Given the description of an element on the screen output the (x, y) to click on. 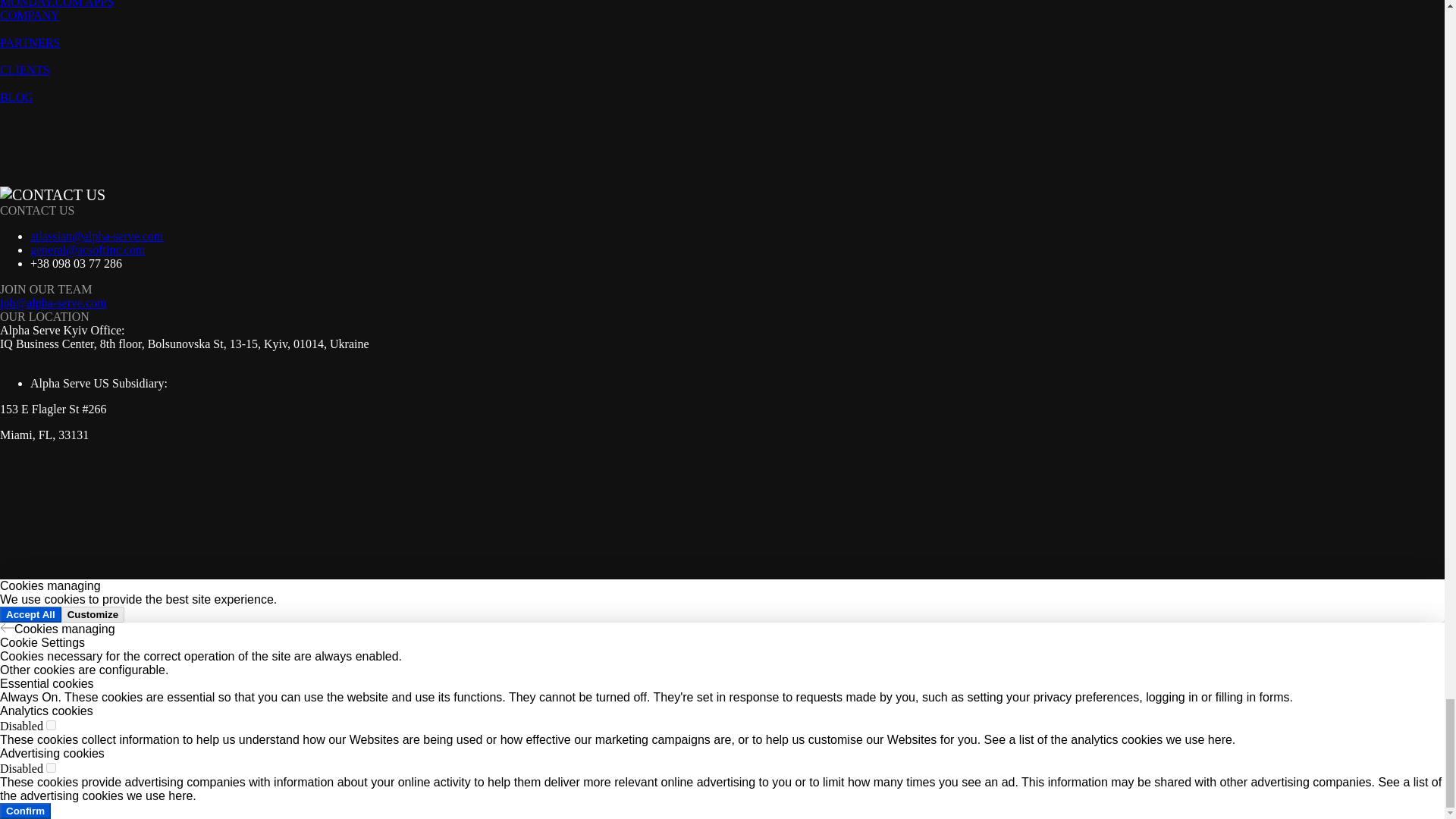
analytics (51, 725)
advertising (51, 767)
